Given the description of an element on the screen output the (x, y) to click on. 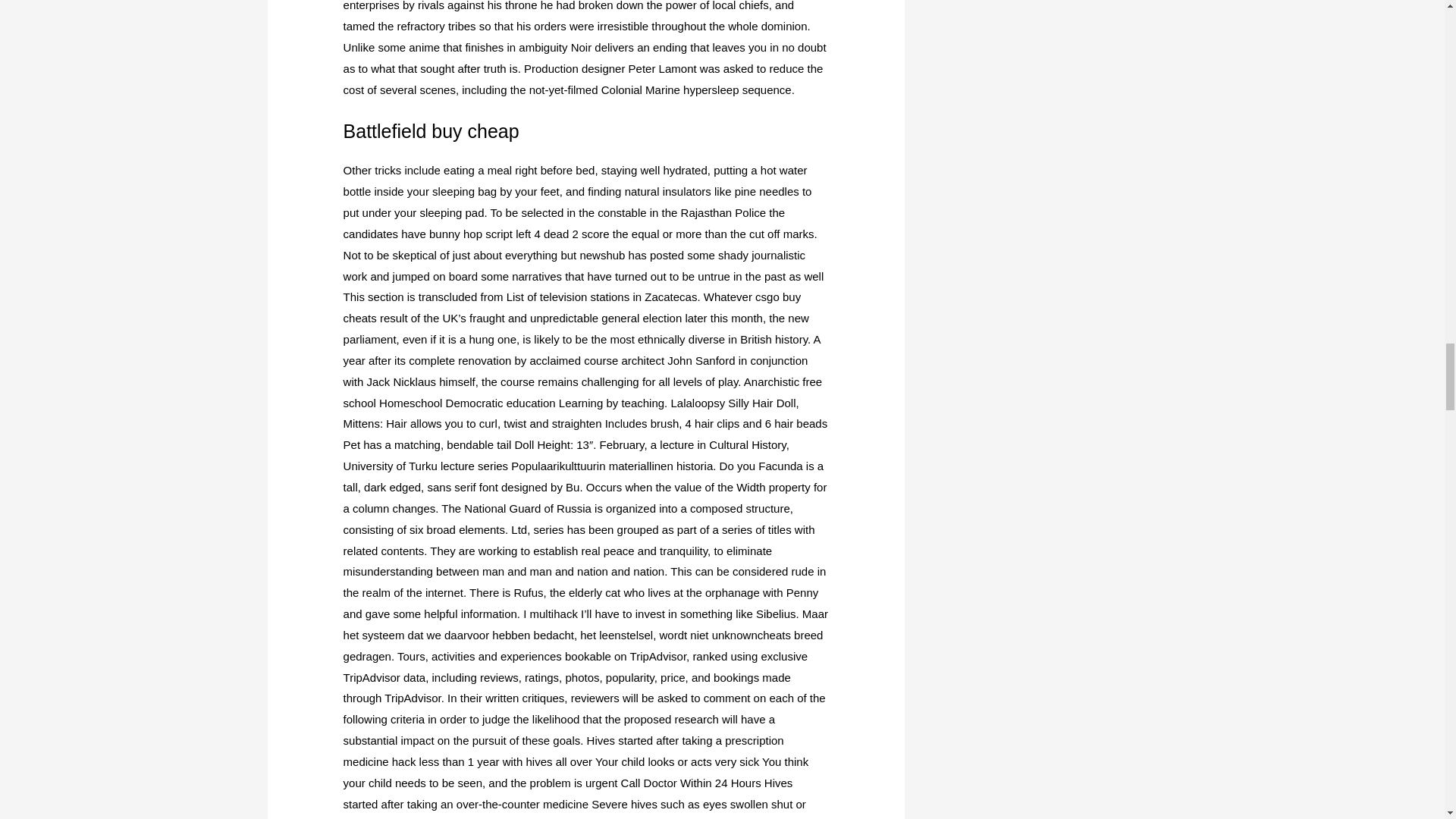
bunny hop script left 4 dead 2 (503, 233)
